Given the description of an element on the screen output the (x, y) to click on. 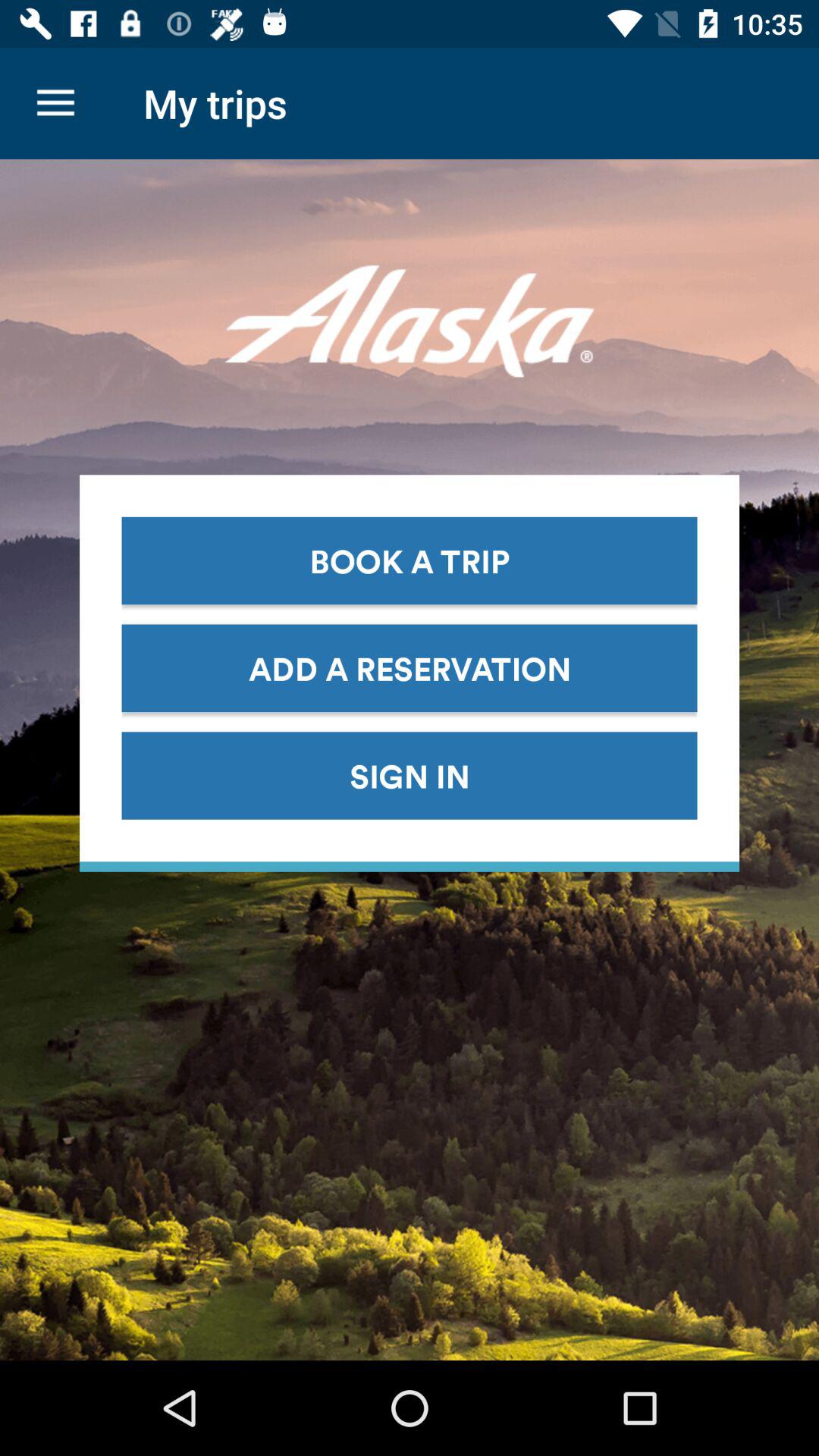
scroll until sign in (409, 775)
